Given the description of an element on the screen output the (x, y) to click on. 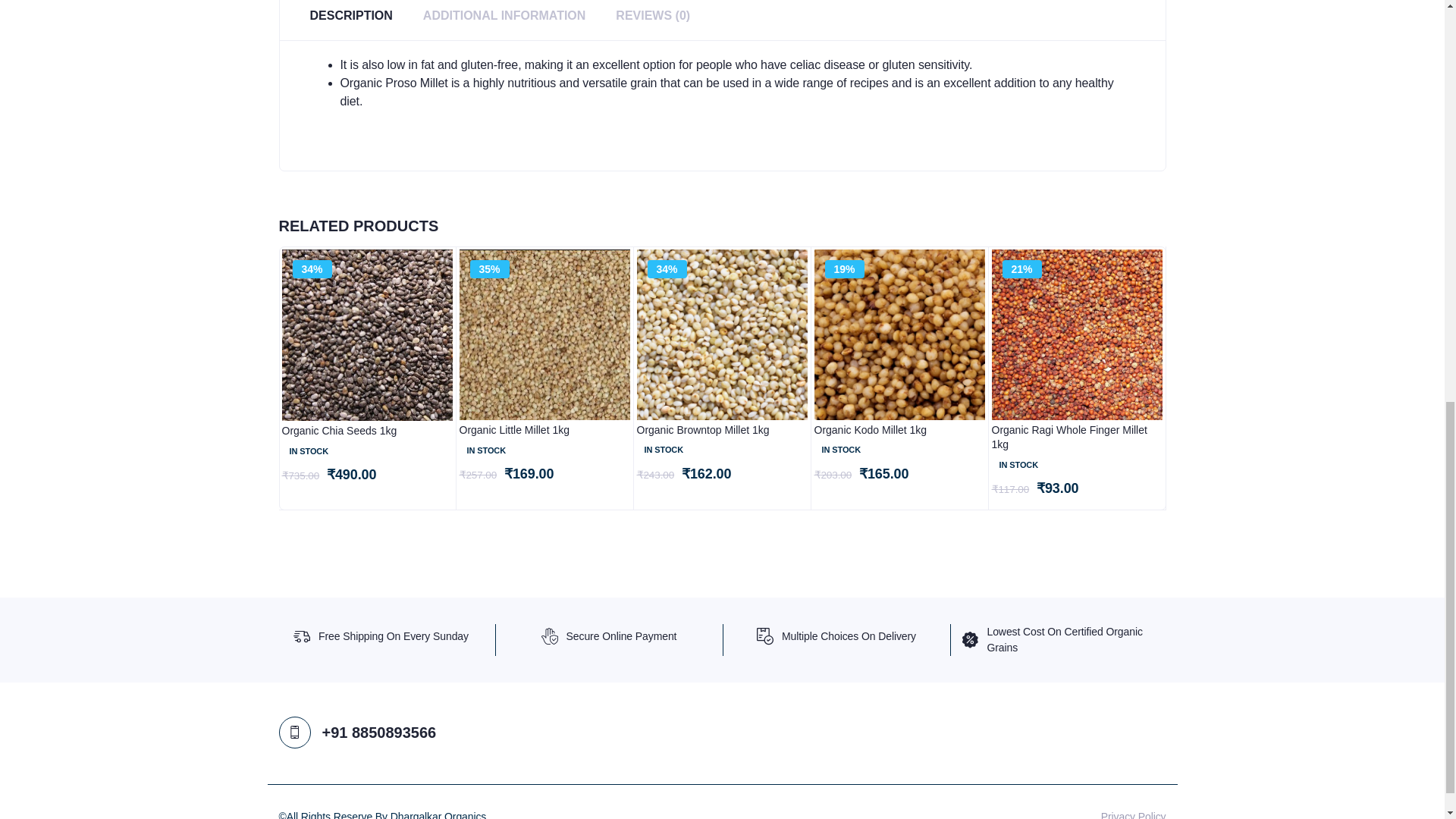
Organic Kodo Millet 1kg (899, 430)
Organic Browntop Millet 1kg (722, 430)
Organic Little Millet 1kg (545, 430)
Organic Chia Seeds 1kg (367, 431)
Organic Ragi Whole Finger Millet 1kg (1076, 437)
